Given the description of an element on the screen output the (x, y) to click on. 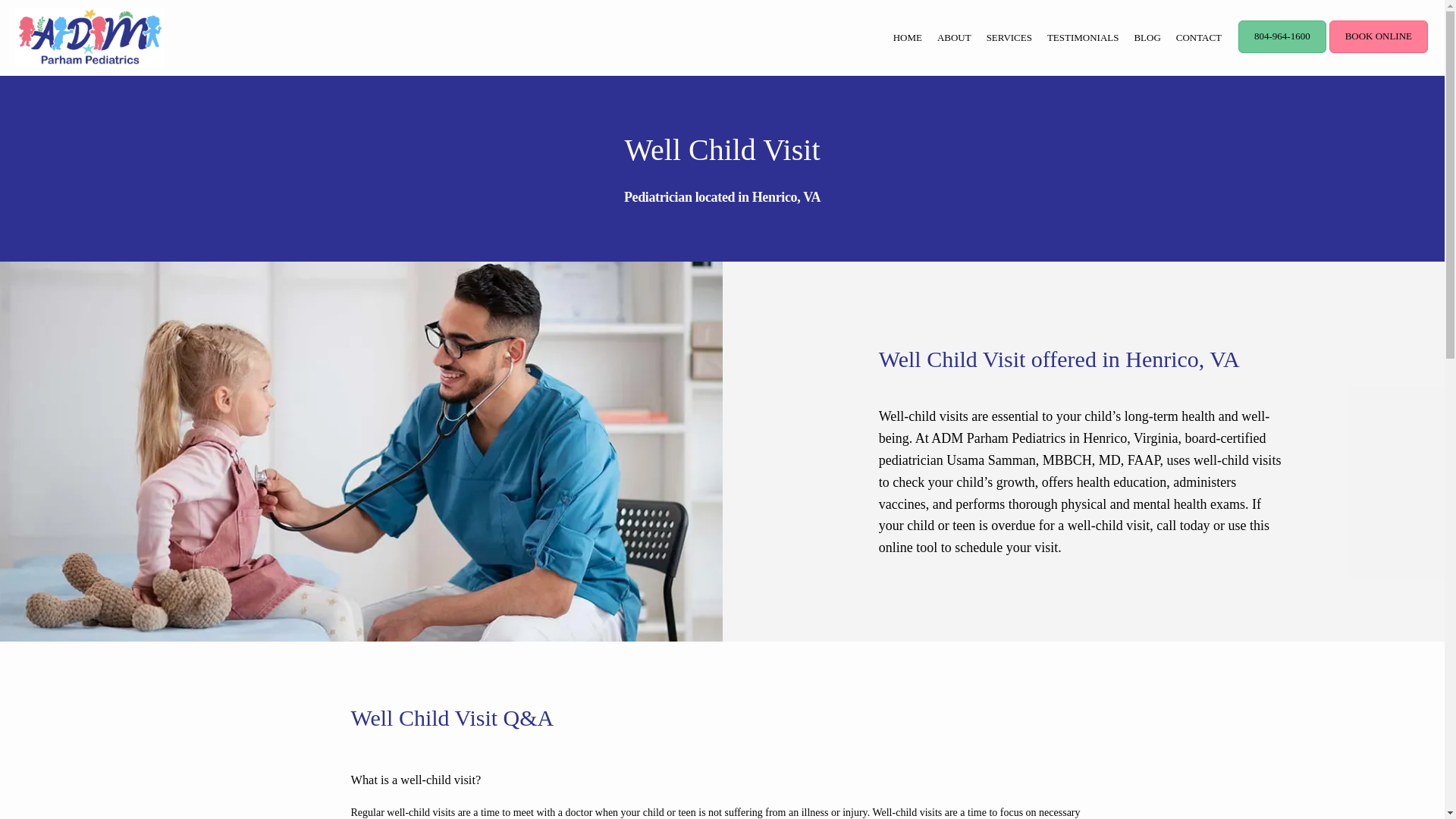
CONTACT (1198, 37)
SERVICES (1009, 37)
BLOG (1147, 37)
HOME (907, 37)
TESTIMONIALS (1082, 37)
ABOUT (954, 37)
804-964-1600 (1281, 50)
BOOK ONLINE (1378, 50)
